Given the description of an element on the screen output the (x, y) to click on. 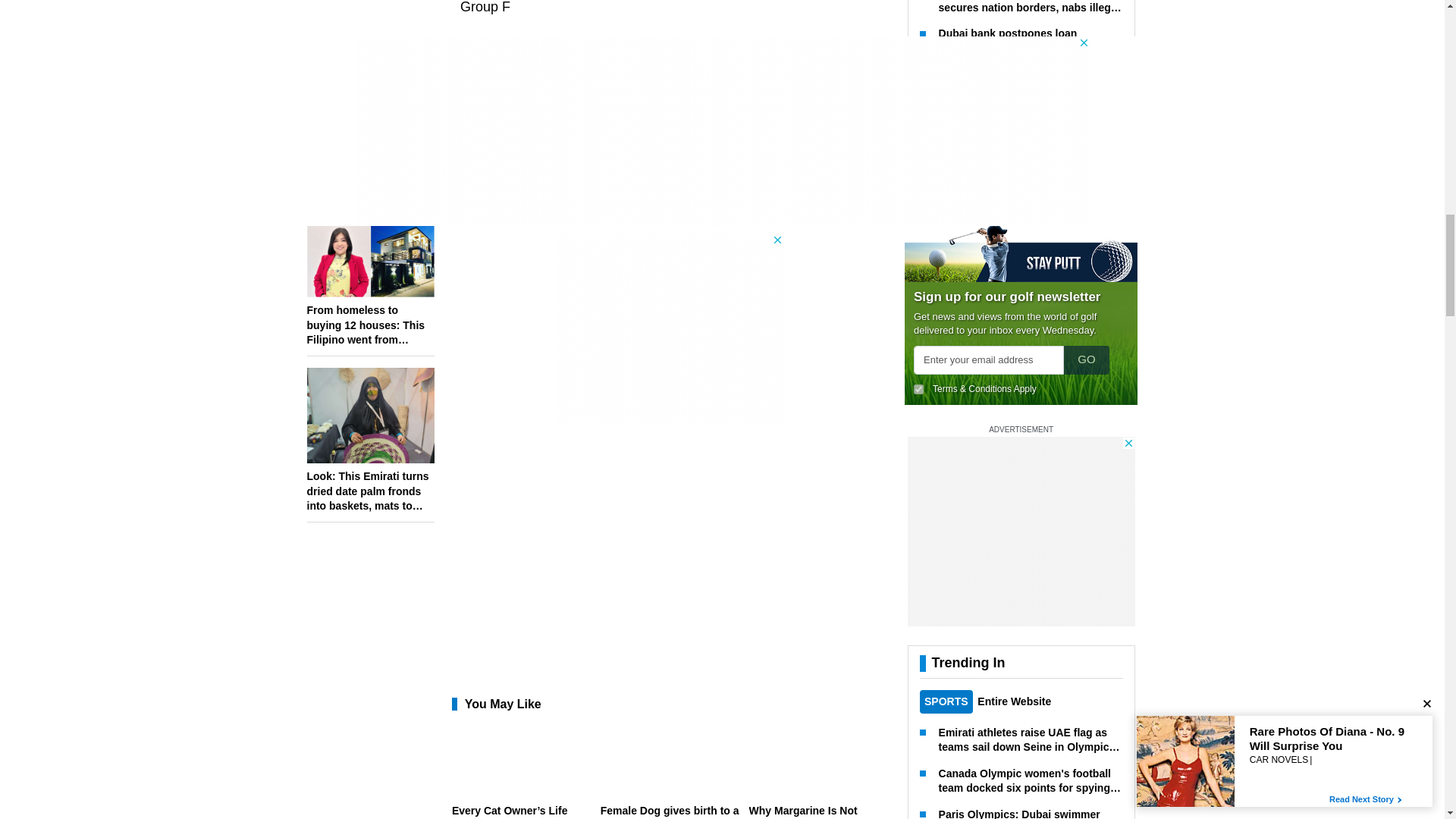
Why Margarine Is Not Healthy In Your 50s? (818, 811)
3rd party ad content (670, 328)
